Given the description of an element on the screen output the (x, y) to click on. 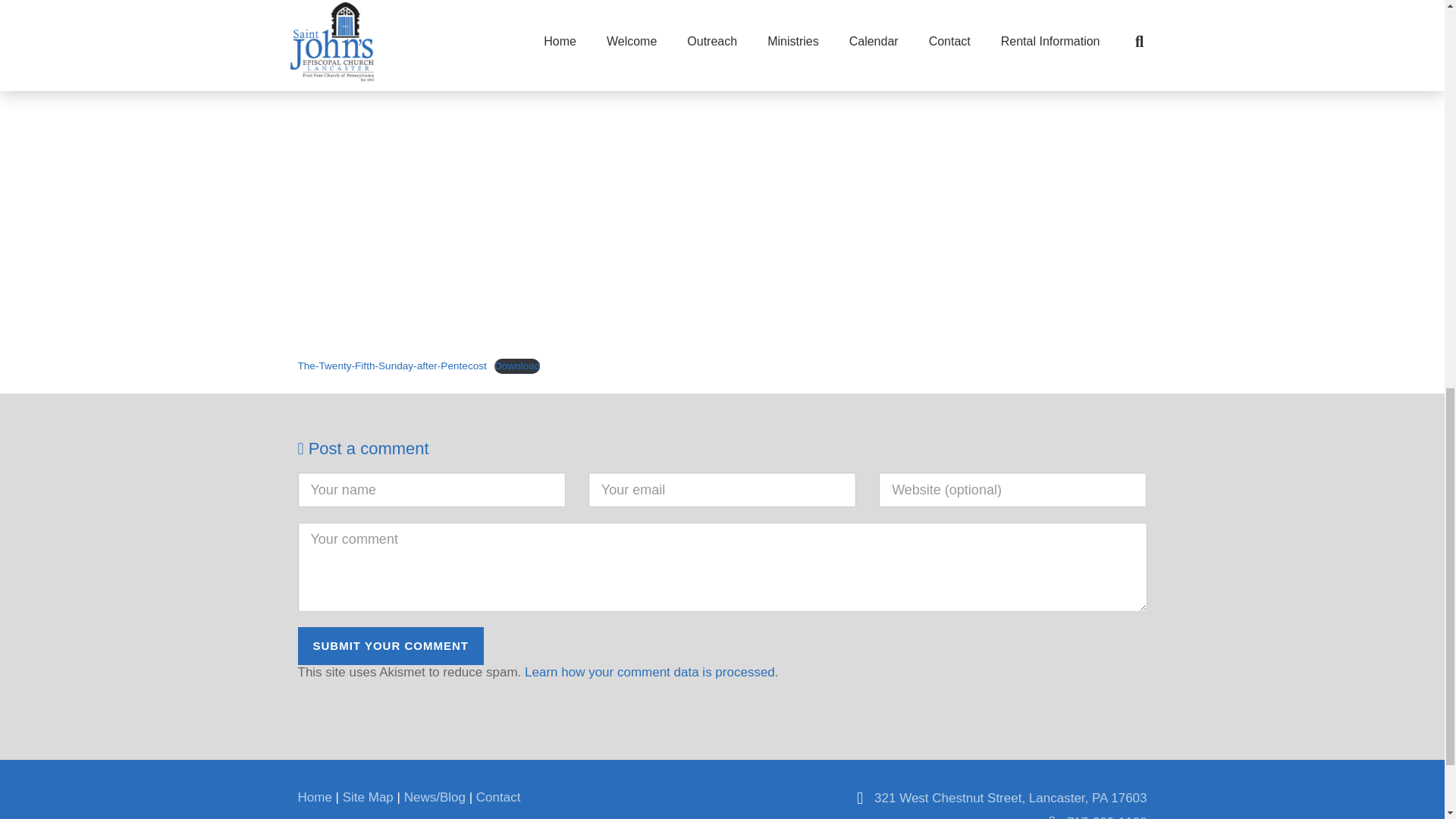
Submit your comment (390, 646)
Home (314, 797)
Download (517, 365)
Site Map (367, 797)
The-Twenty-Fifth-Sunday-after-Pentecost (391, 365)
Submit your comment (390, 646)
Learn how your comment data is processed (649, 672)
